Given the description of an element on the screen output the (x, y) to click on. 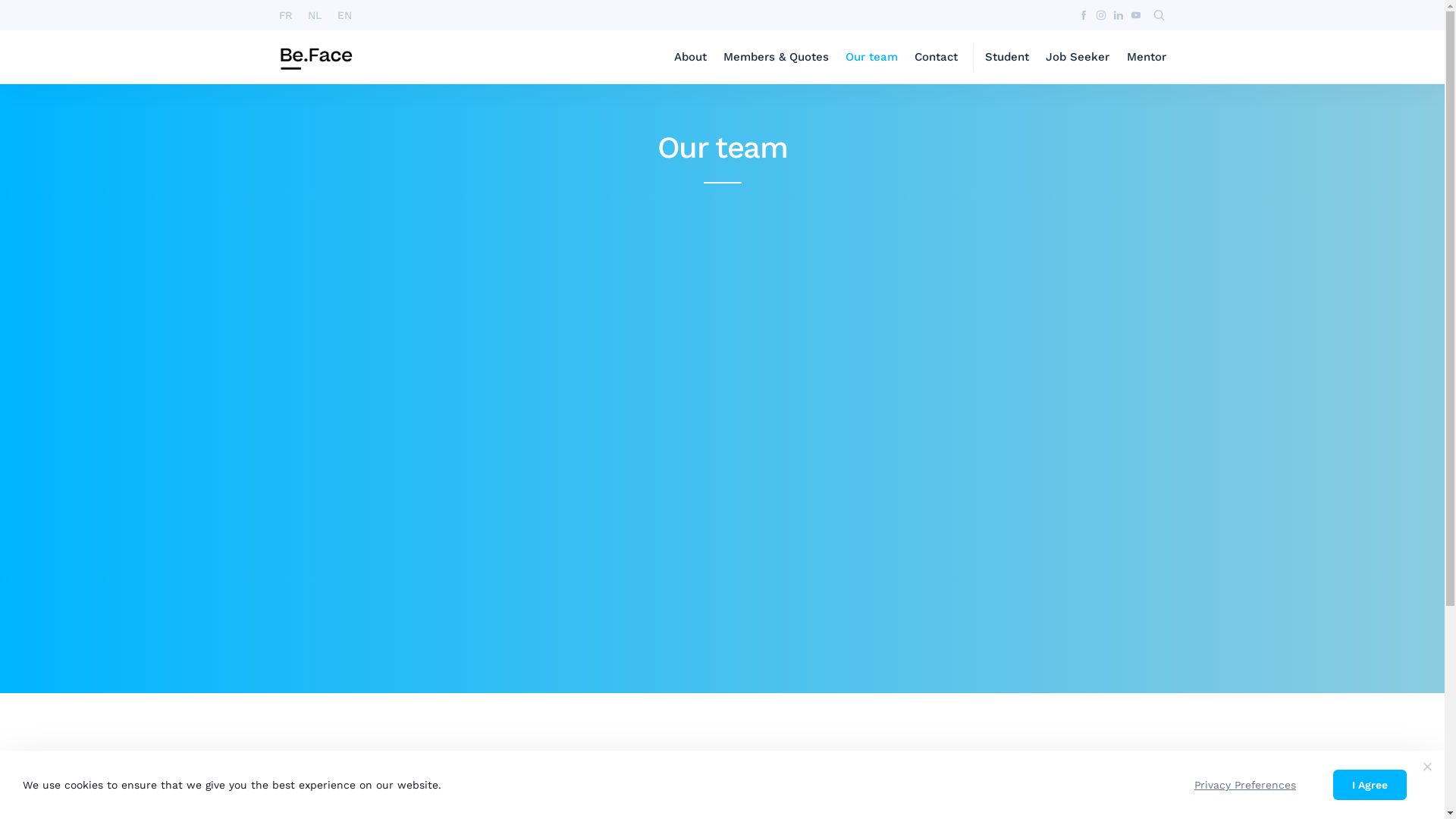
NL Element type: text (314, 15)
Search Element type: text (455, 16)
Privacy Preferences Element type: text (1244, 784)
Mentor Element type: text (1146, 56)
About Element type: text (690, 56)
I Agree Element type: text (1369, 784)
Job Seeker Element type: text (1077, 56)
FR Element type: text (285, 15)
Student Element type: text (1007, 56)
Our team Element type: text (871, 56)
Contact Element type: text (935, 56)
Members & Quotes Element type: text (775, 56)
EN Element type: text (344, 15)
